Given the description of an element on the screen output the (x, y) to click on. 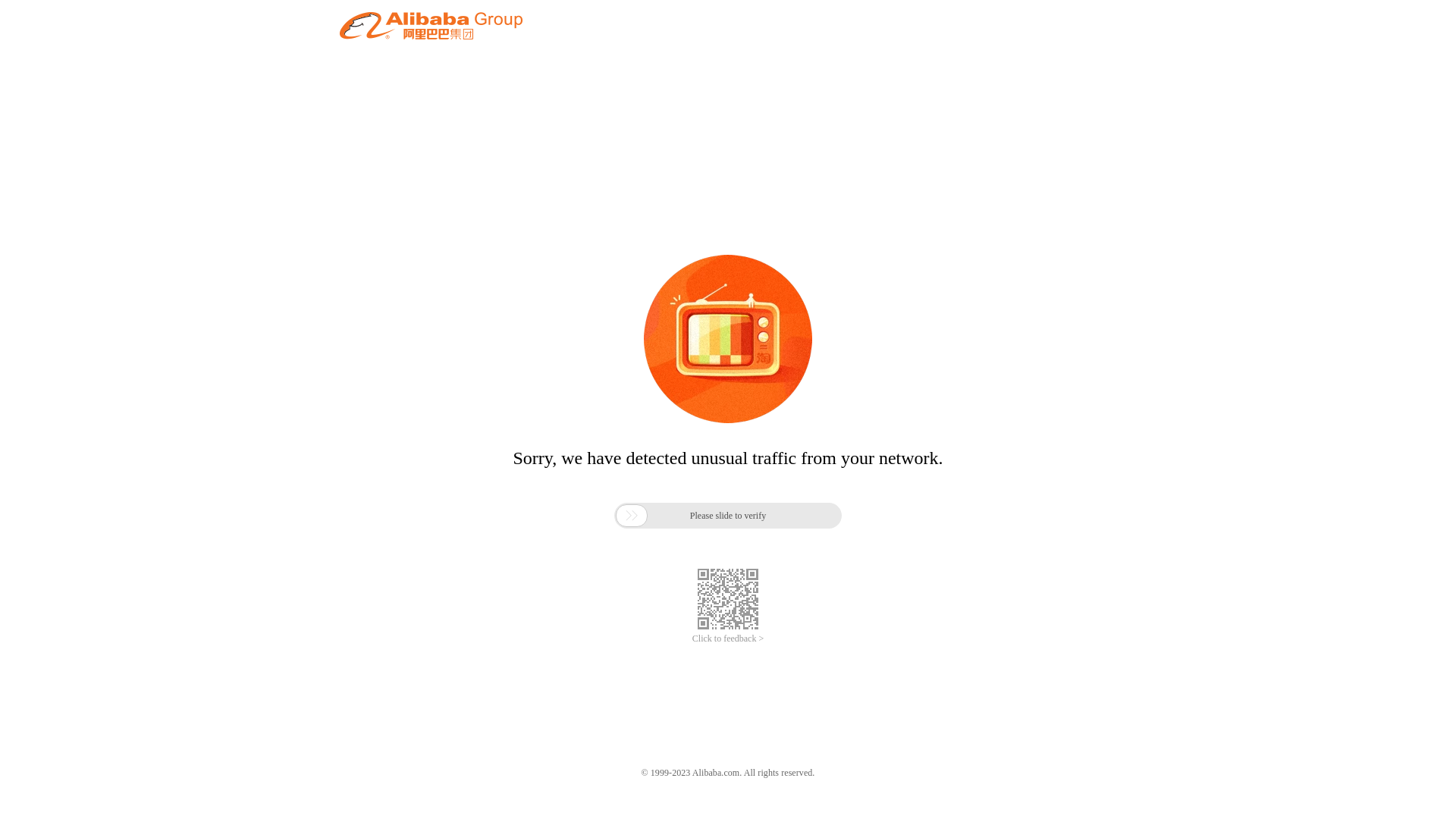
Click to feedback > Element type: text (727, 638)
